Given the description of an element on the screen output the (x, y) to click on. 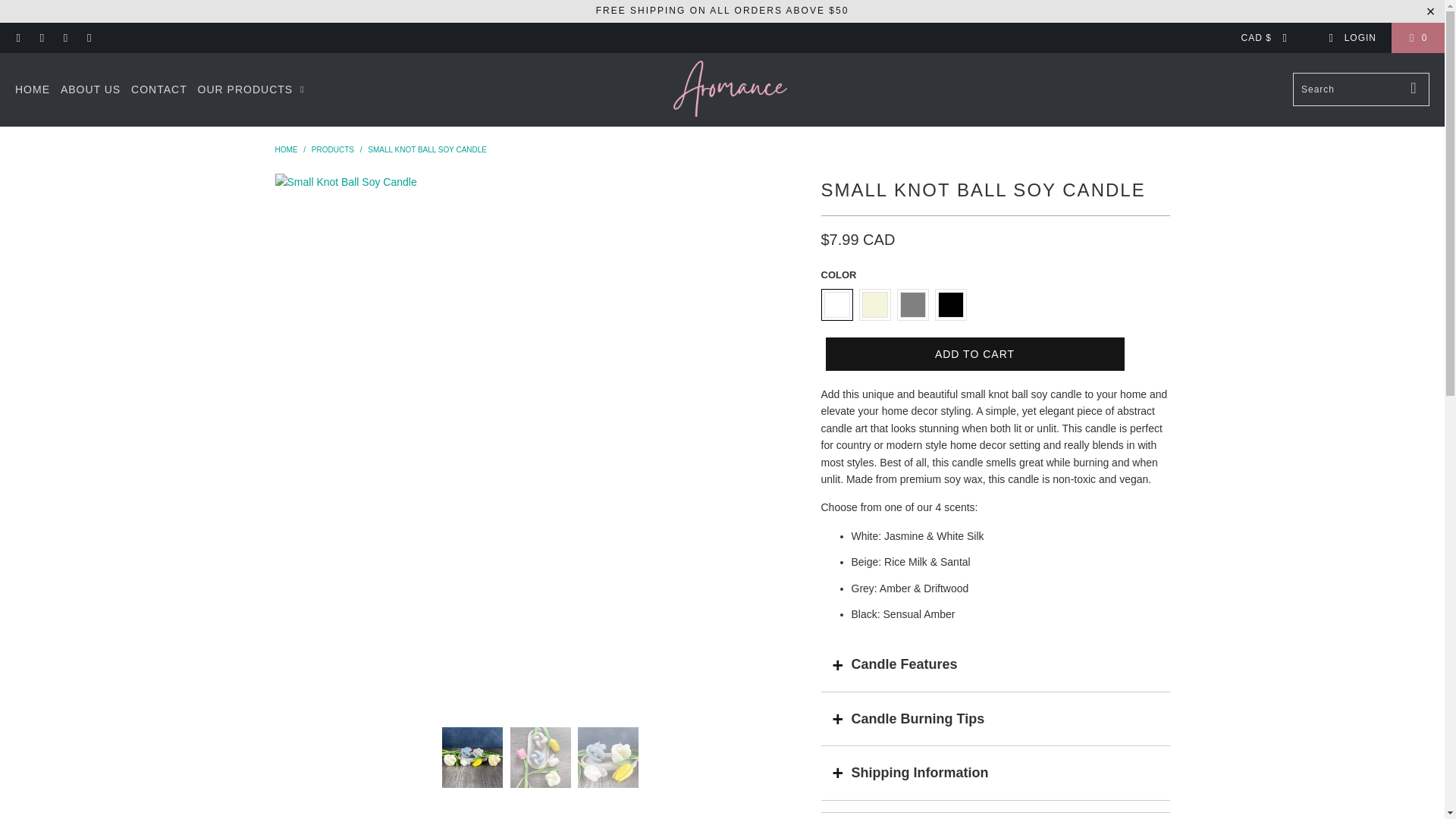
Email Aromance (87, 37)
Aromance on Instagram (64, 37)
Products (332, 149)
Aromance on Pinterest (41, 37)
Aromance on Facebook (17, 37)
Aromance (729, 89)
Aromance (286, 149)
My Account  (1351, 37)
